Given the description of an element on the screen output the (x, y) to click on. 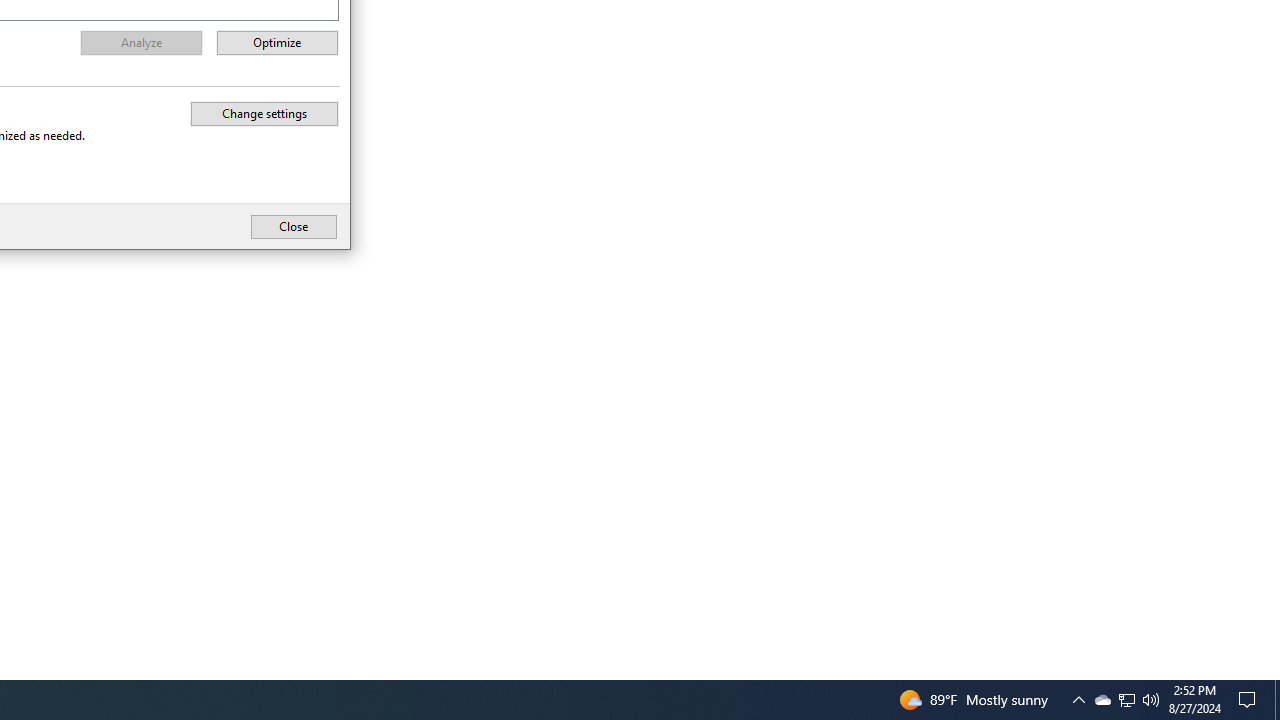
Q2790: 100% (1151, 699)
Show desktop (1126, 699)
Optimize (1277, 699)
User Promoted Notification Area (277, 43)
Action Center, No new notifications (1126, 699)
Analyze (1250, 699)
Notification Chevron (1102, 699)
Close (141, 43)
Change settings (1078, 699)
